Given the description of an element on the screen output the (x, y) to click on. 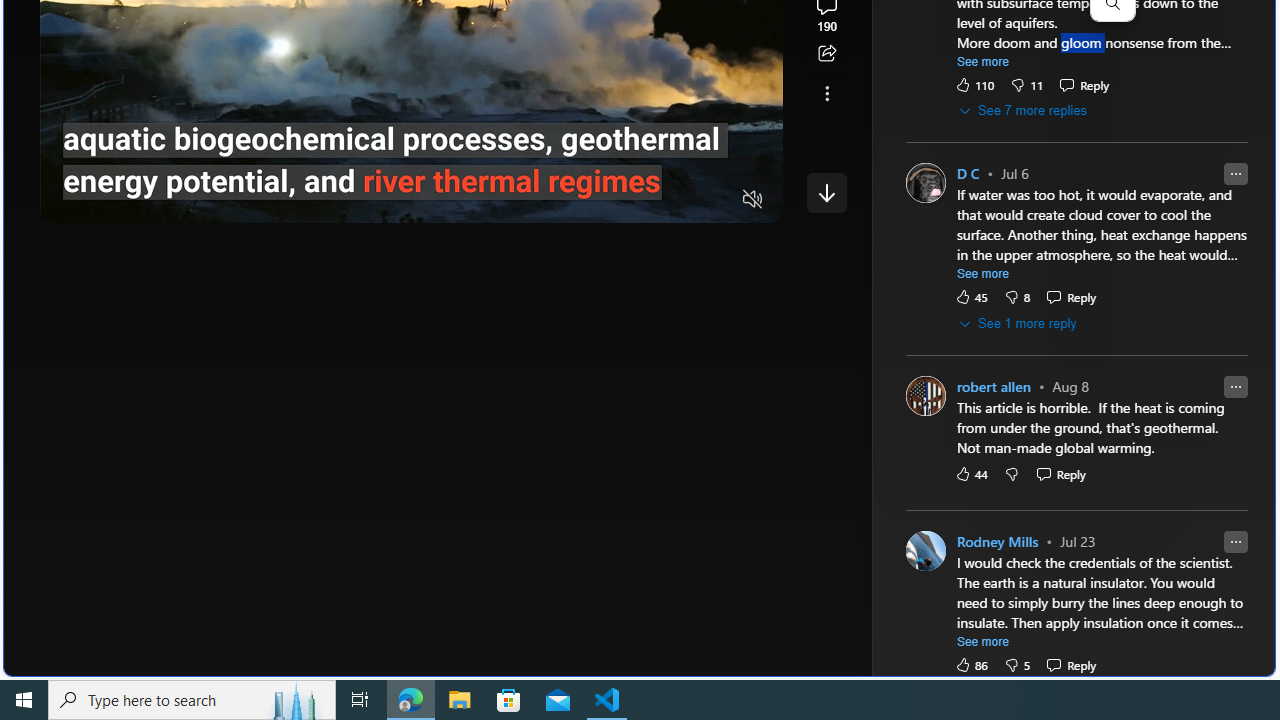
Seek Forward (150, 200)
Profile Picture (924, 549)
Quality Settings (634, 200)
Rodney Mills (997, 541)
Class: control (826, 192)
Fullscreen (714, 200)
86 Like (970, 664)
See 7 more replies (1023, 111)
Reply Reply Comment (1071, 664)
110 Like (974, 84)
